Given the description of an element on the screen output the (x, y) to click on. 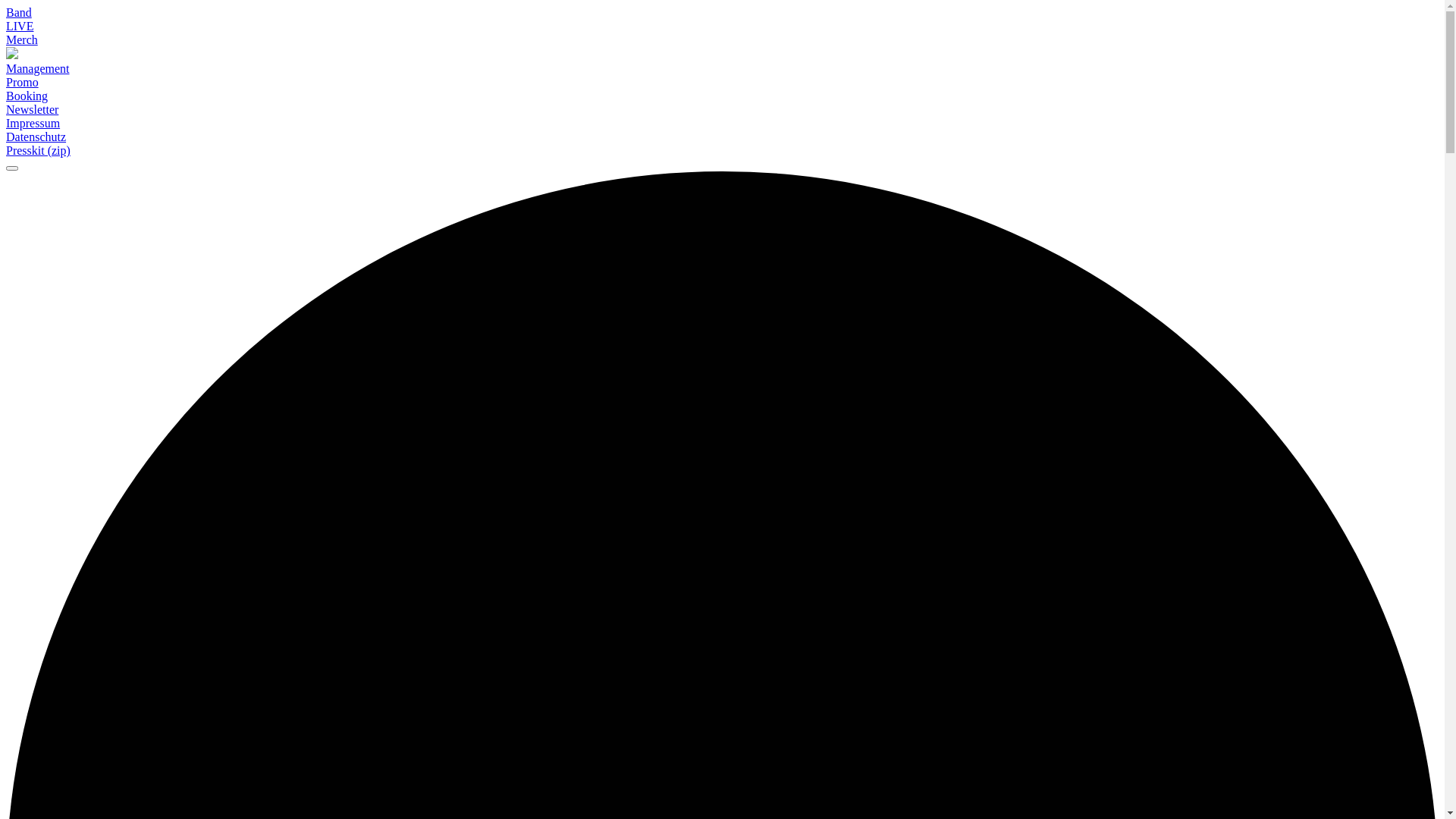
Presskit (zip) Element type: text (722, 150)
LIVE Element type: text (19, 25)
Impressum Element type: text (32, 122)
Newsletter Element type: text (722, 109)
Datenschutz Element type: text (35, 136)
Merch Element type: text (21, 39)
Management Element type: text (722, 68)
Booking Element type: text (722, 96)
Band Element type: text (18, 12)
Promo Element type: text (722, 82)
